Given the description of an element on the screen output the (x, y) to click on. 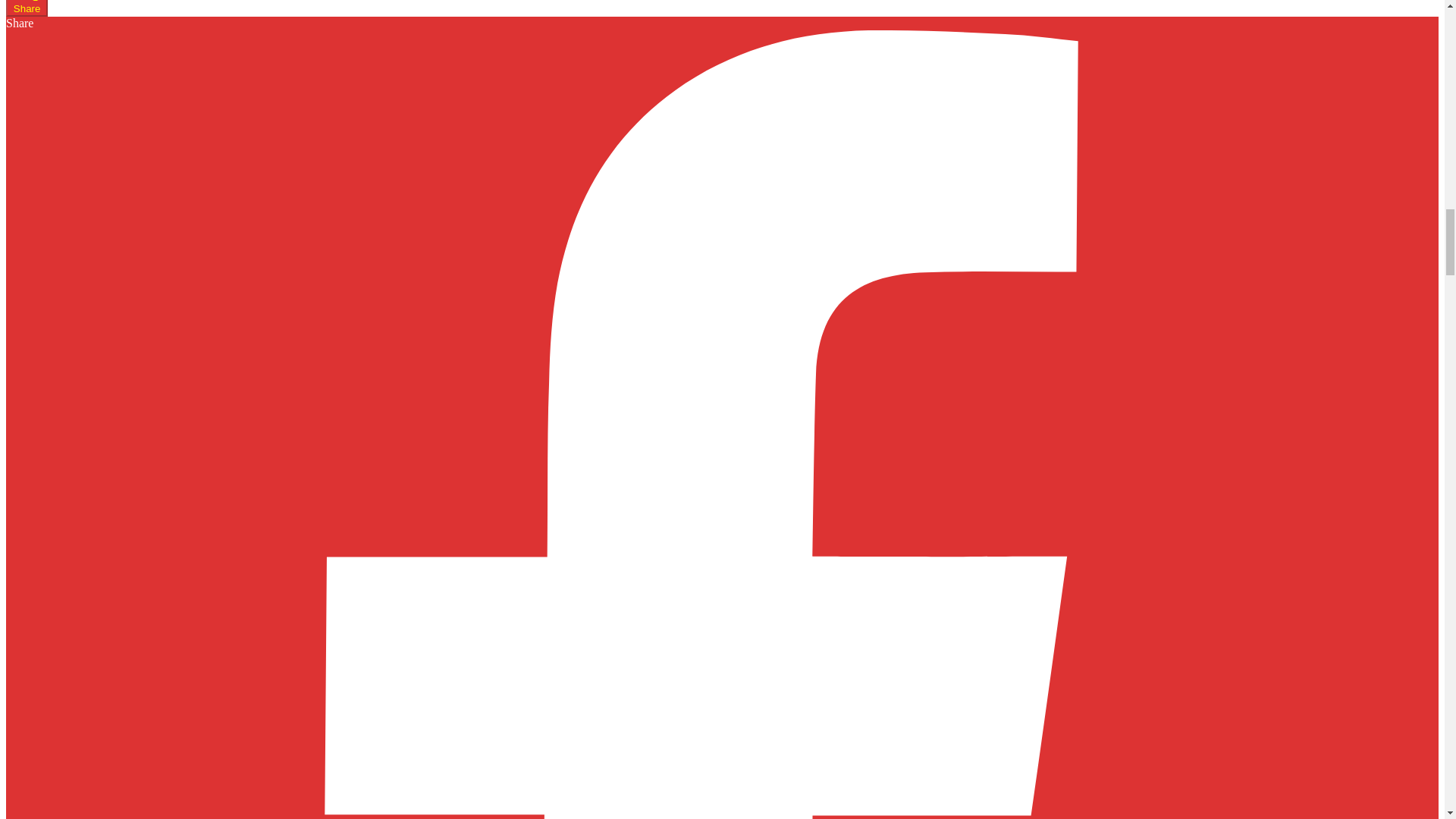
Share (26, 8)
